Given the description of an element on the screen output the (x, y) to click on. 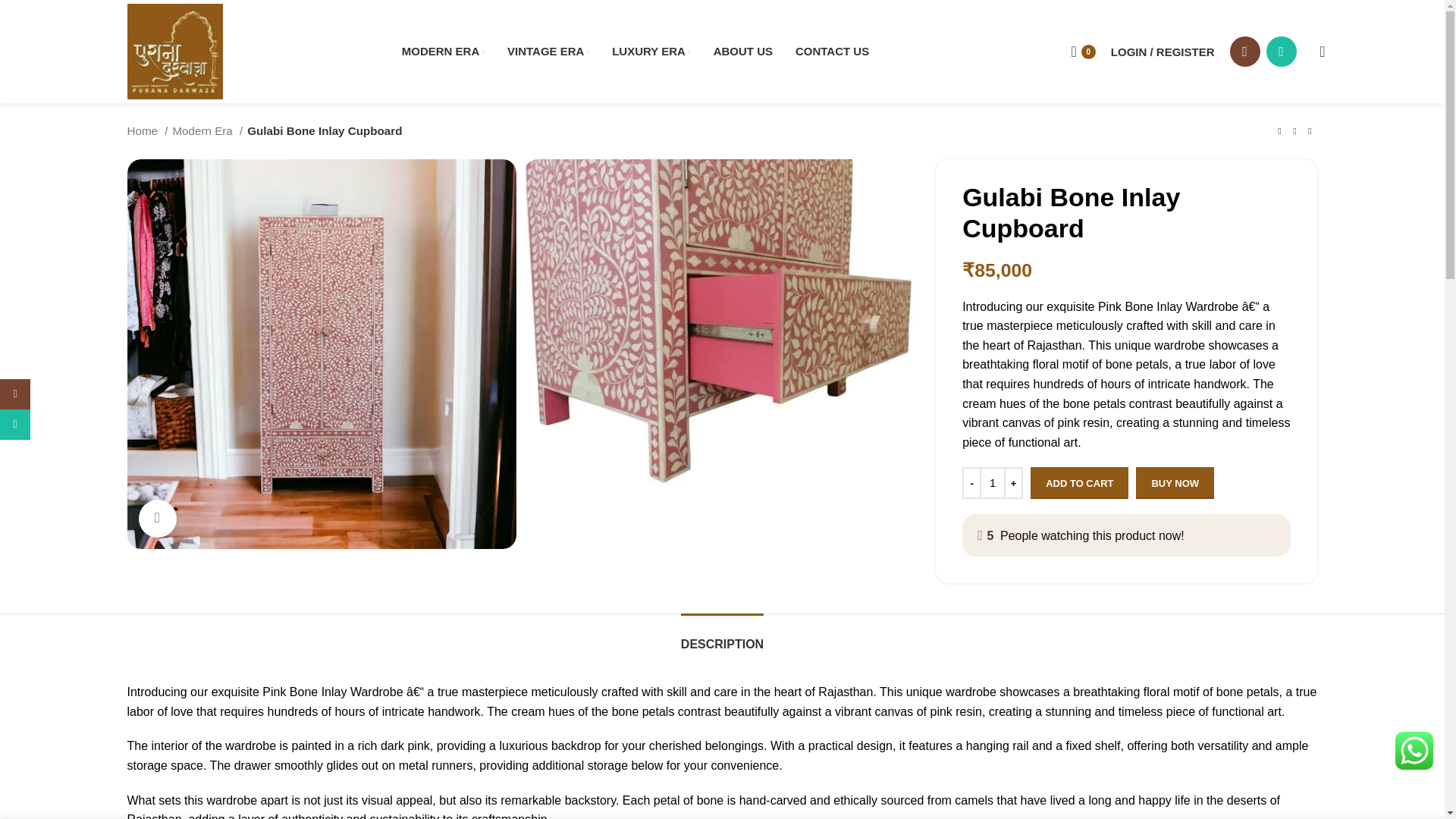
MODERN ERA (442, 51)
My account (1163, 51)
VINTAGE ERA (547, 51)
Shopping cart (1082, 51)
